Given the description of an element on the screen output the (x, y) to click on. 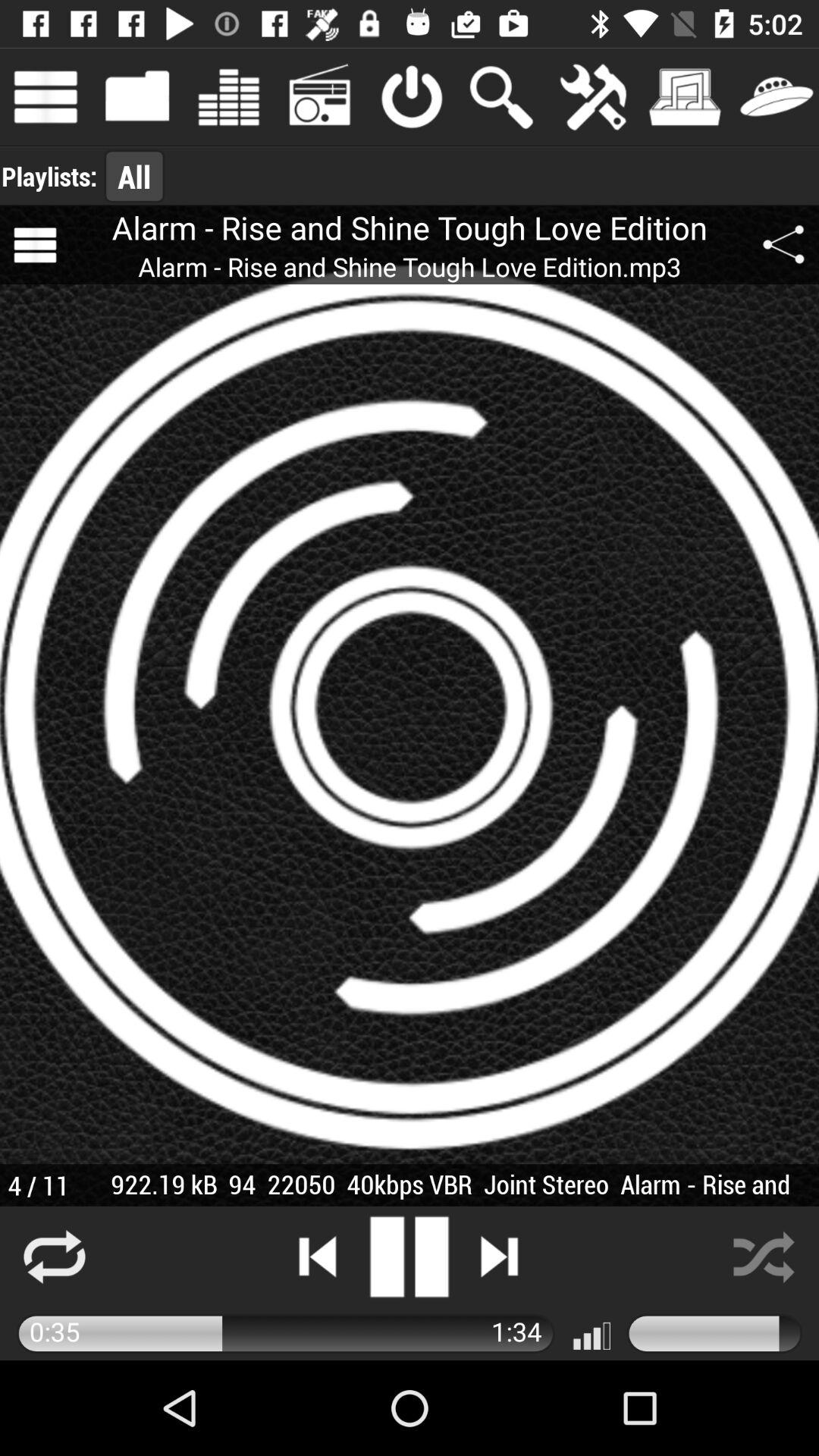
click the icon to the right of playlists: app (134, 176)
